Given the description of an element on the screen output the (x, y) to click on. 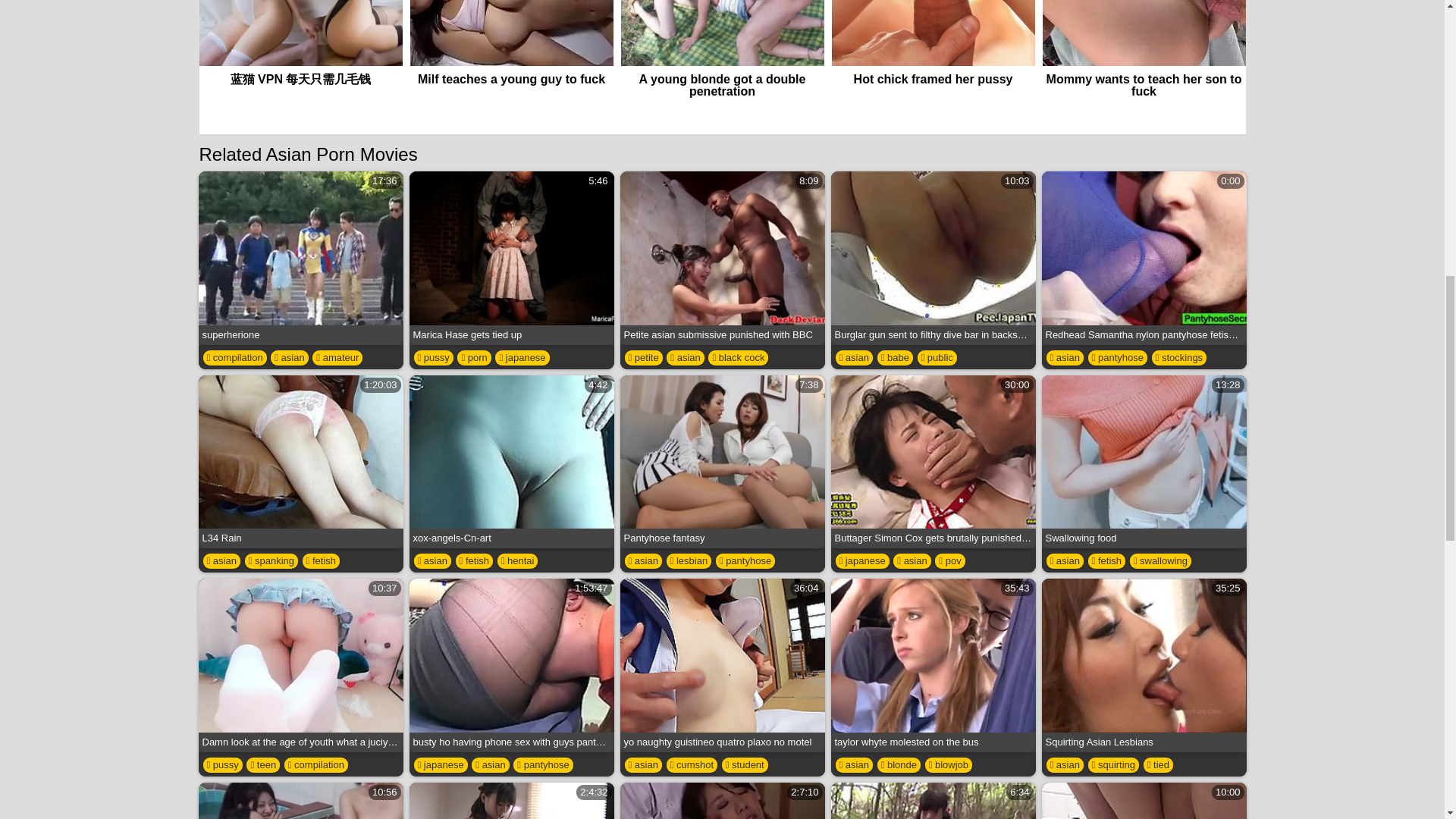
stockings (1179, 357)
pantyhose (1117, 357)
busty ho having phone sex with guys pantyhose (511, 665)
fetish (320, 560)
asian (722, 257)
japanese (300, 461)
babe (684, 357)
Showering asians piss (521, 357)
